Given the description of an element on the screen output the (x, y) to click on. 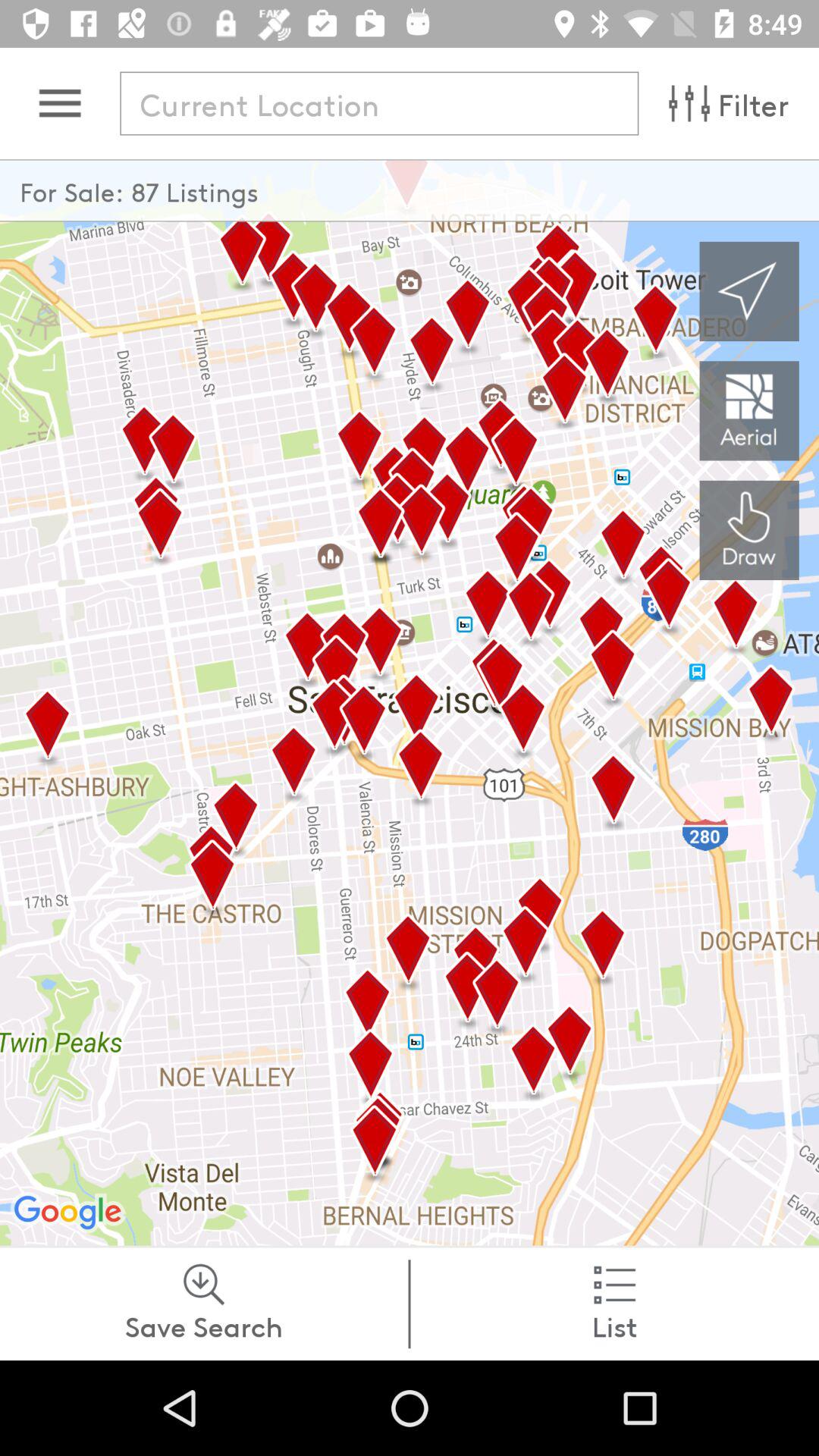
click list (614, 1303)
